Given the description of an element on the screen output the (x, y) to click on. 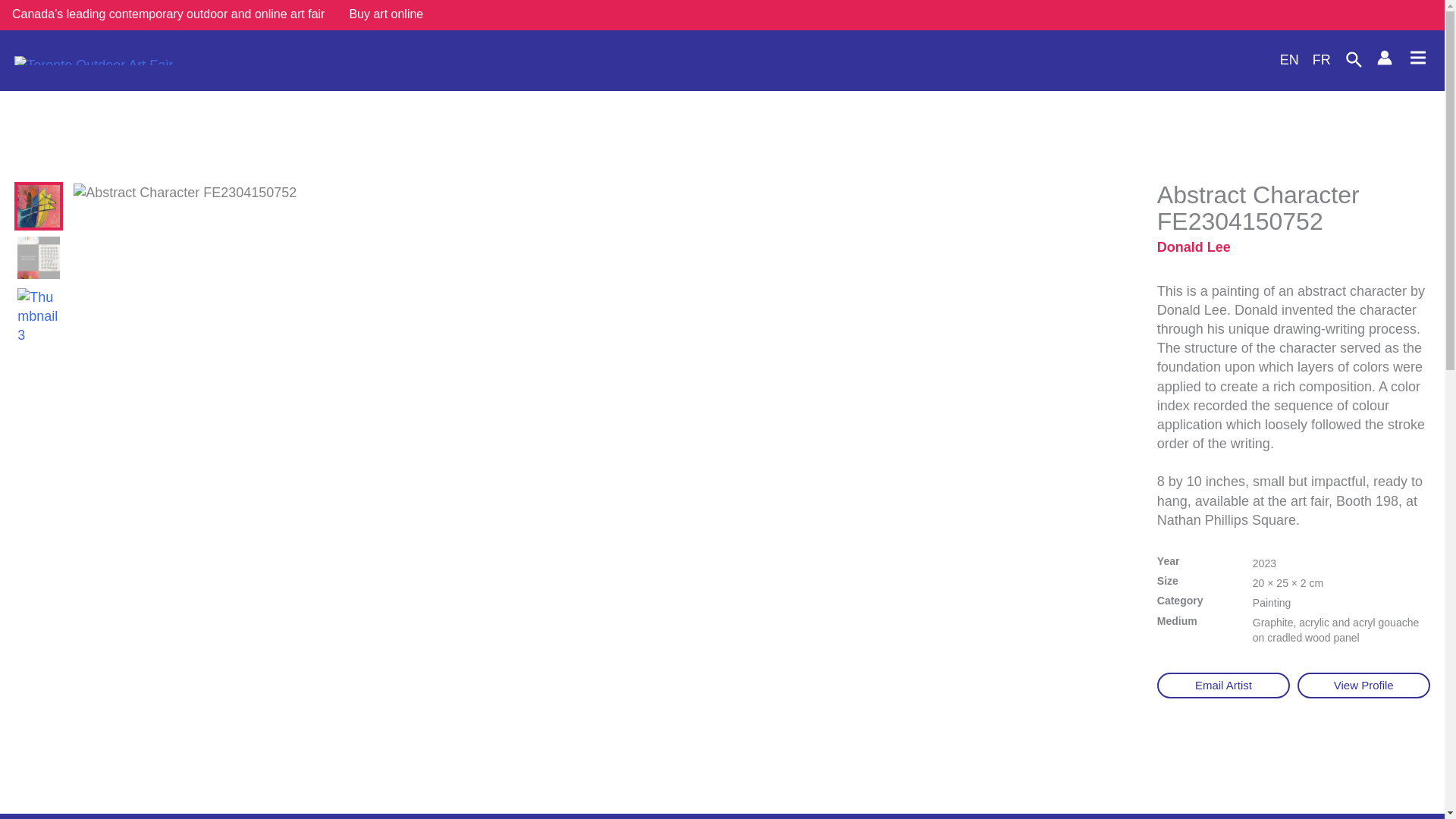
FR (1314, 59)
EN (1282, 59)
French (1314, 59)
English (1282, 59)
